Given the description of an element on the screen output the (x, y) to click on. 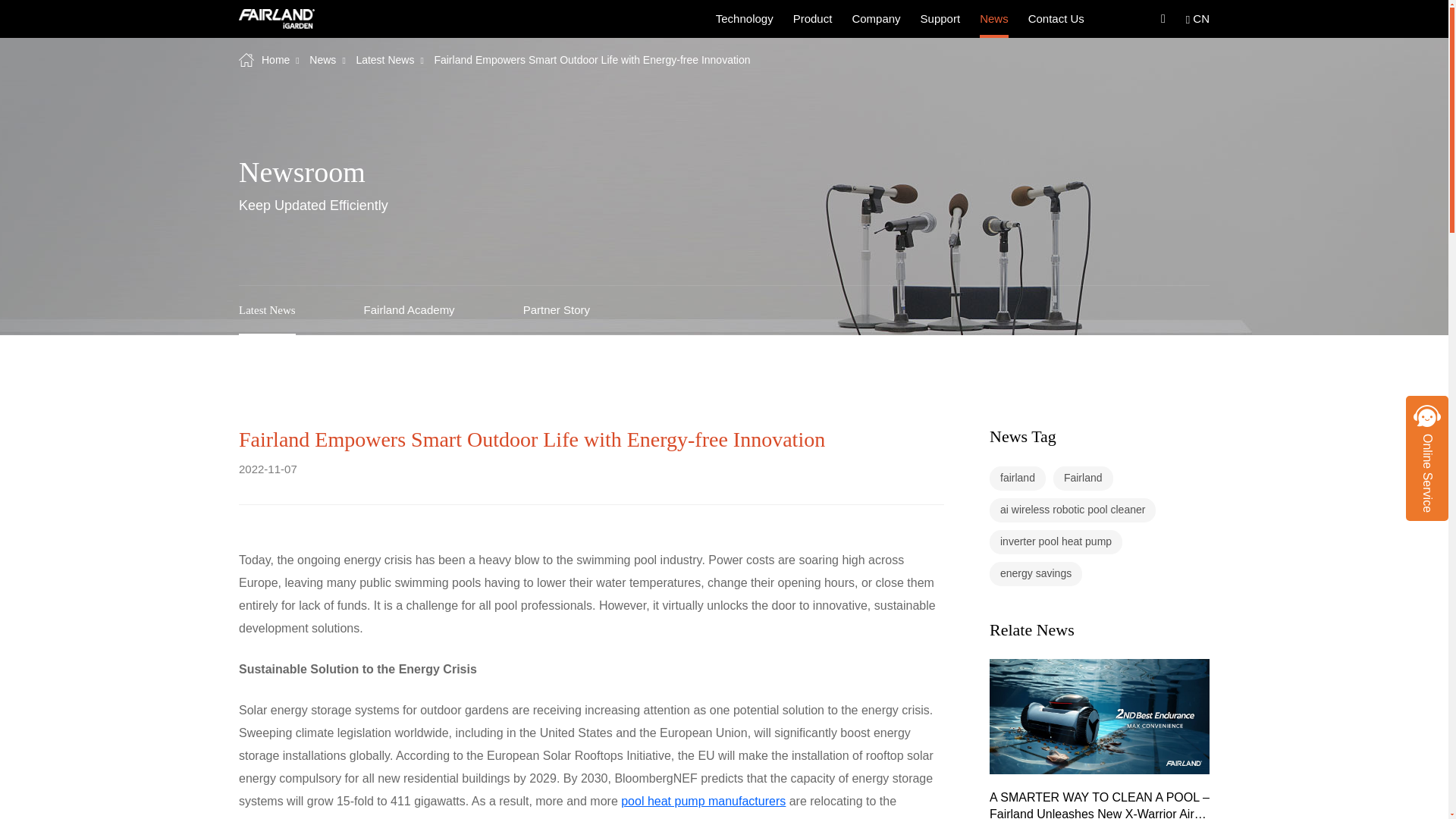
Support (723, 309)
Product (940, 18)
Technology (812, 18)
Company (744, 18)
